Given the description of an element on the screen output the (x, y) to click on. 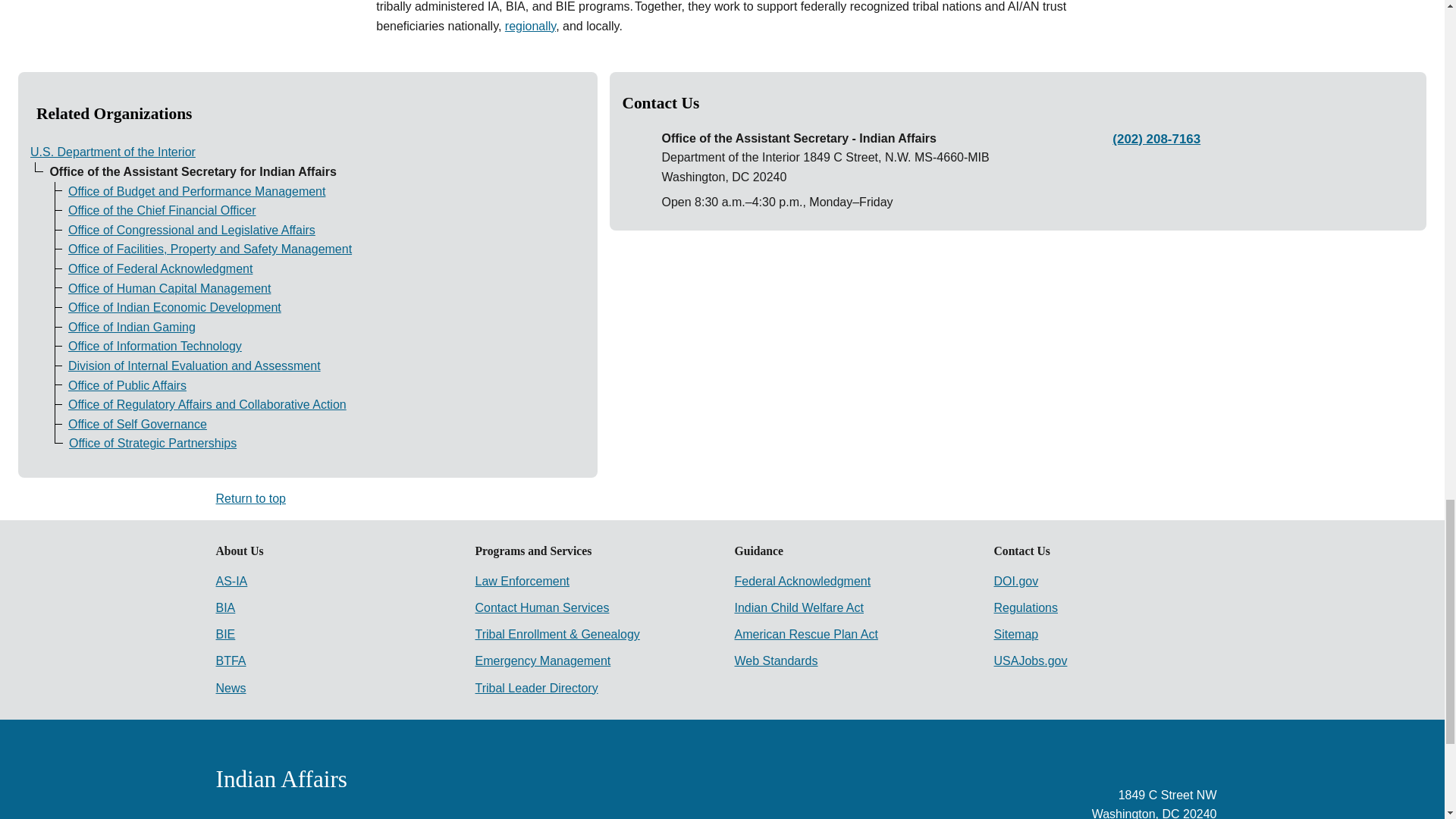
Tribal Leader Directory (535, 687)
